Given the description of an element on the screen output the (x, y) to click on. 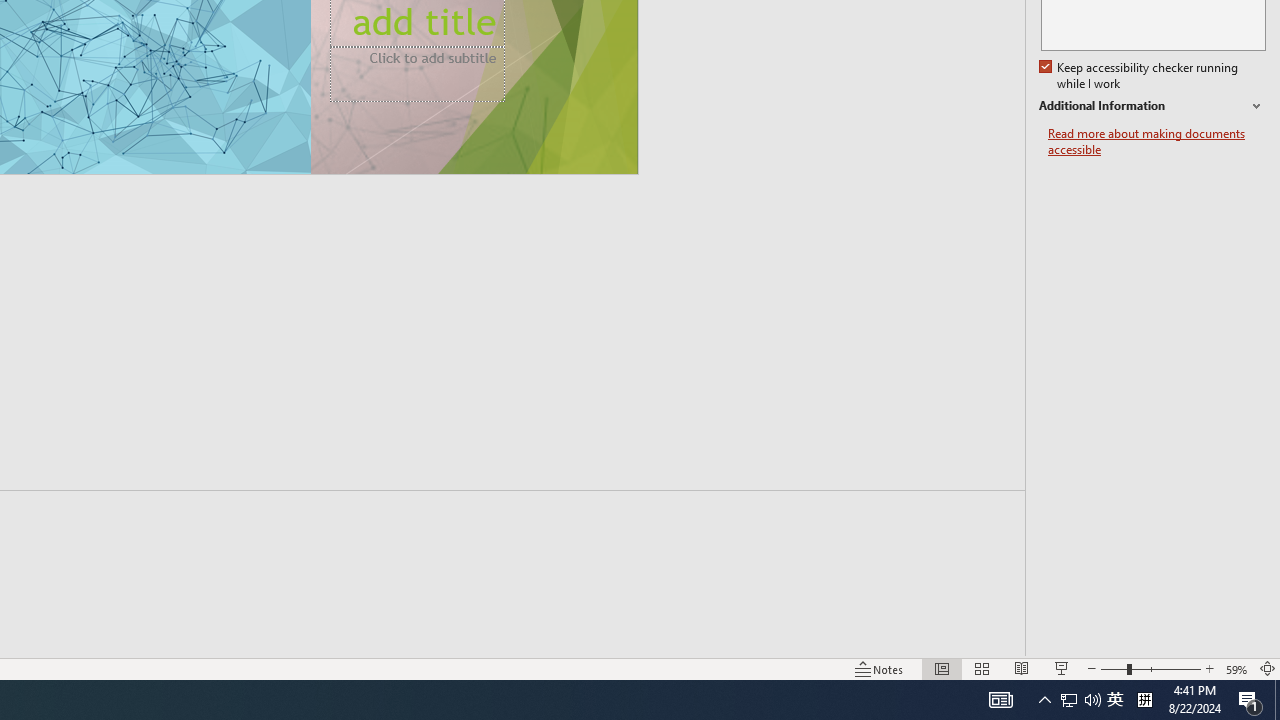
Subtitle TextBox (417, 74)
Additional Information (1152, 106)
Zoom 59% (1236, 668)
Keep accessibility checker running while I work (1140, 76)
Read more about making documents accessible (1156, 142)
